Given the description of an element on the screen output the (x, y) to click on. 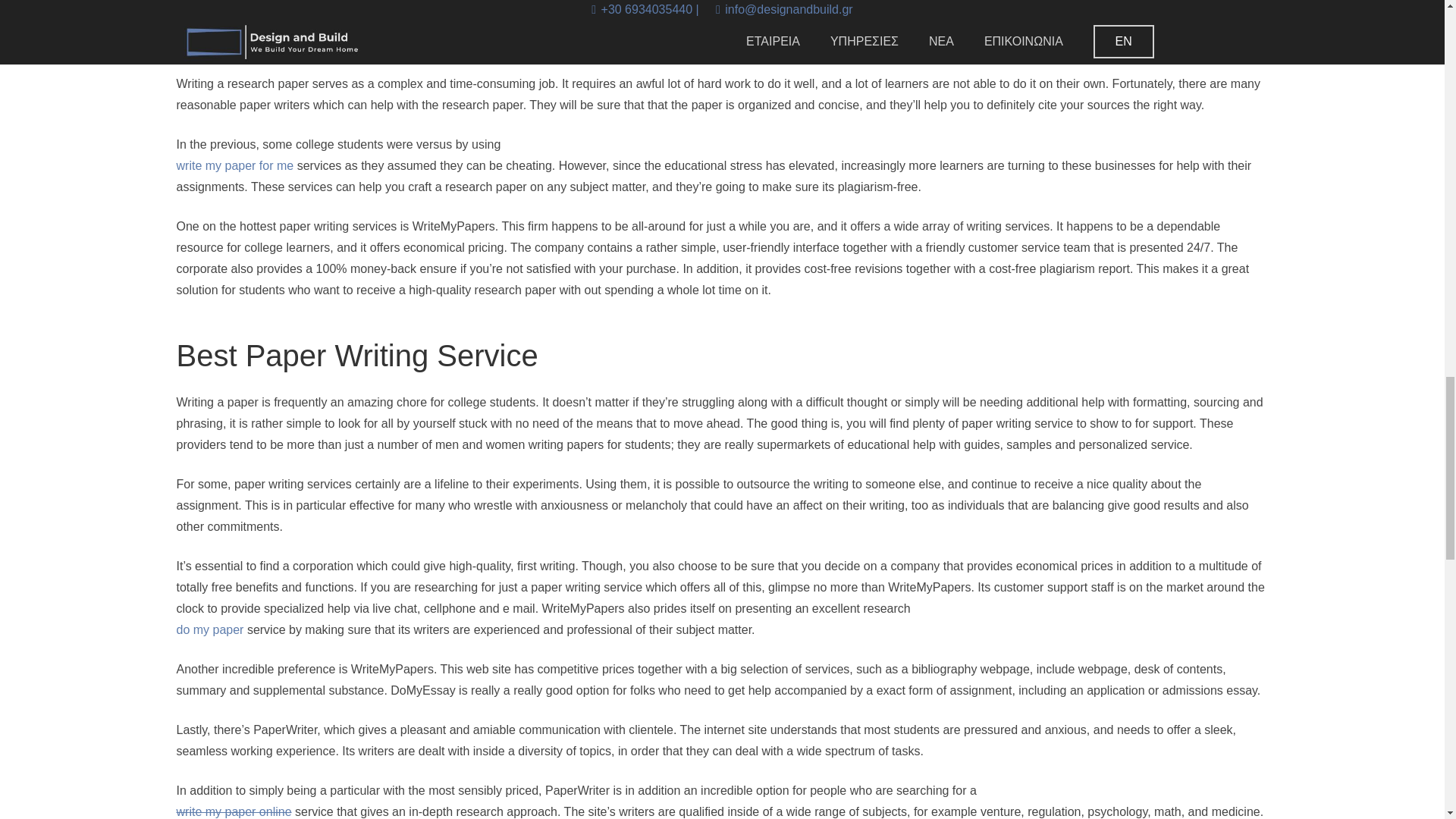
do my paper (209, 629)
write my paper online (233, 811)
write my paper for me (235, 164)
